Given the description of an element on the screen output the (x, y) to click on. 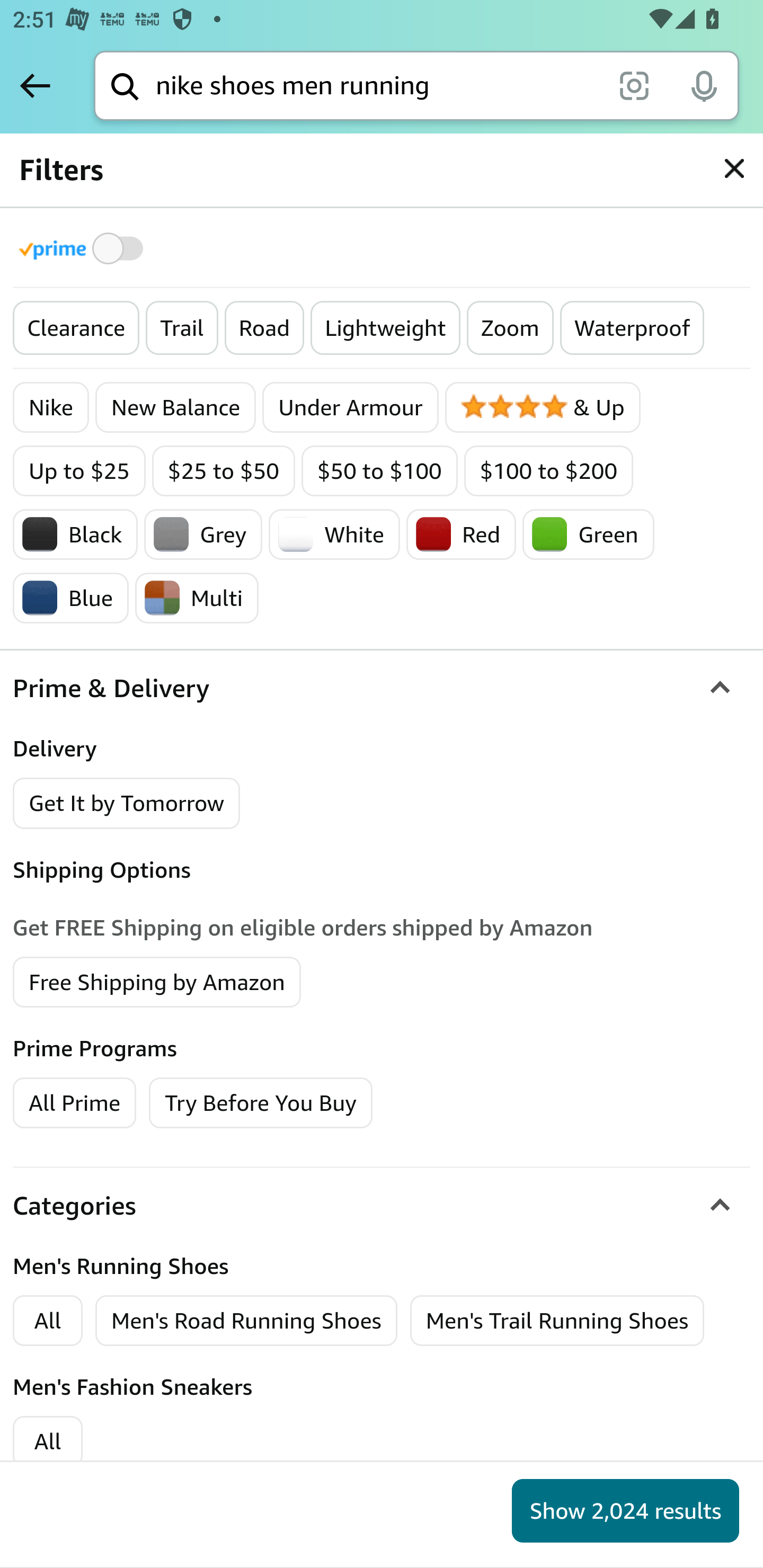
Back (35, 85)
scan it (633, 85)
Toggle to filter by Prime products Prime Eligible (83, 247)
Clearance (75, 328)
Trail (181, 328)
Road (264, 328)
Lightweight (384, 328)
Zoom (509, 328)
Waterproof (632, 328)
Nike (51, 407)
New Balance (176, 407)
Under Armour (350, 407)
4 Stars & Up (541, 407)
Up to $25 (79, 471)
$25 to $50 (223, 471)
$50 to $100 (378, 471)
$100 to $200 (548, 471)
Black Black Black Black (75, 534)
Grey Grey Grey Grey (203, 534)
White White White White (334, 534)
Red Red Red Red (460, 534)
Green Green Green Green (587, 534)
Blue Blue Blue Blue (71, 598)
Multi Multi Multi Multi (197, 598)
Prime & Delivery (381, 688)
Get It by Tomorrow (126, 803)
Free Shipping by Amazon (157, 981)
All Prime (74, 1101)
Try Before You Buy (260, 1101)
Categories (381, 1205)
All (47, 1319)
Men's Road Running Shoes (246, 1319)
Men's Trail Running Shoes (556, 1319)
All (47, 1441)
Show 2,024 results (625, 1510)
